Given the description of an element on the screen output the (x, y) to click on. 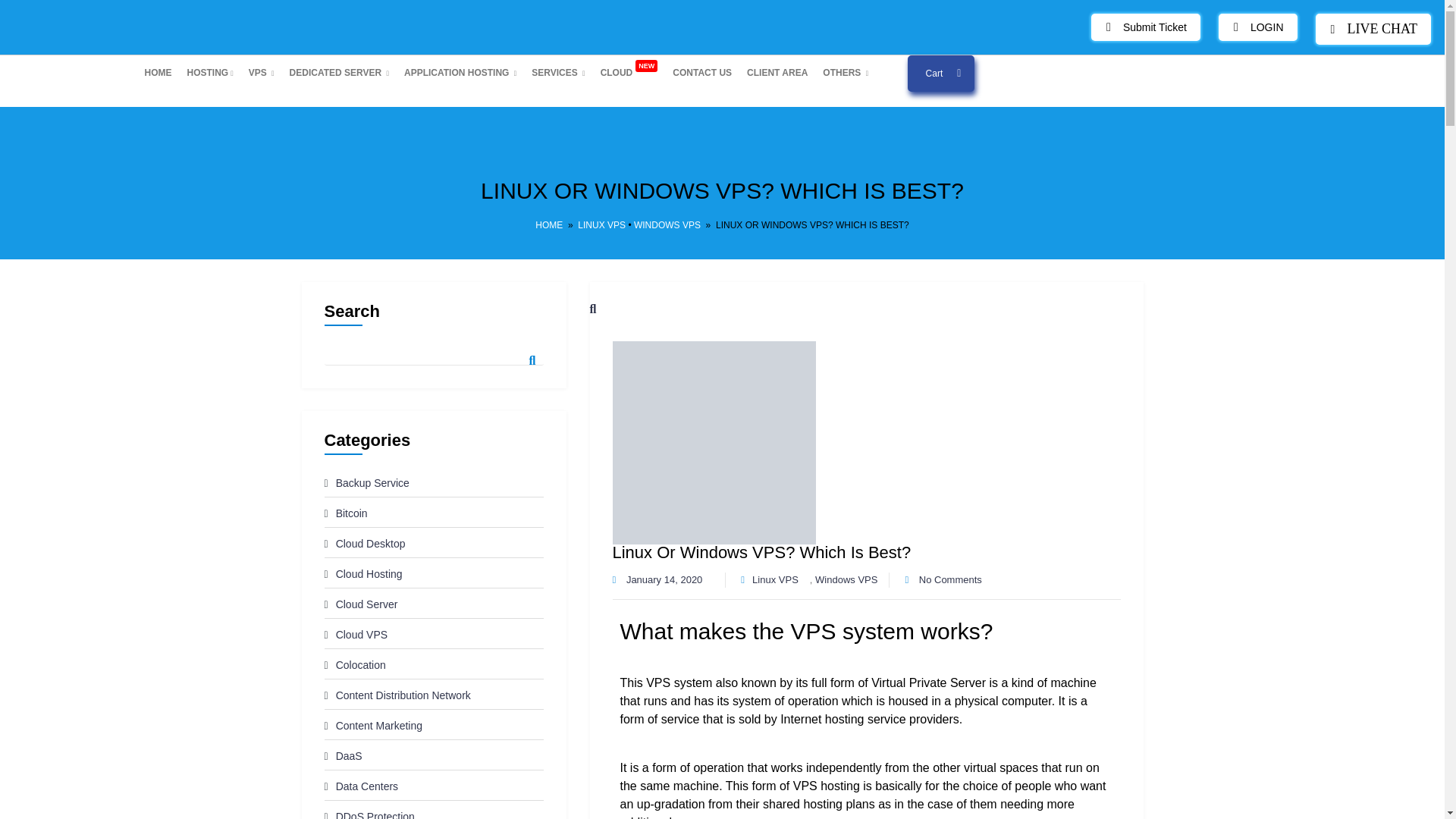
VPS (261, 72)
Submit Ticket (1144, 26)
CLOUDNEW (628, 72)
APPLICATION HOSTING (460, 72)
Dedicated Server (338, 72)
SERVICES (558, 72)
Hosting (209, 72)
HOSTING (209, 72)
LOGIN (1257, 26)
DEDICATED SERVER (338, 72)
HOME (157, 72)
LIVE CHAT (1372, 29)
Application Hosting (460, 72)
VPS (261, 72)
Home (157, 72)
